Given the description of an element on the screen output the (x, y) to click on. 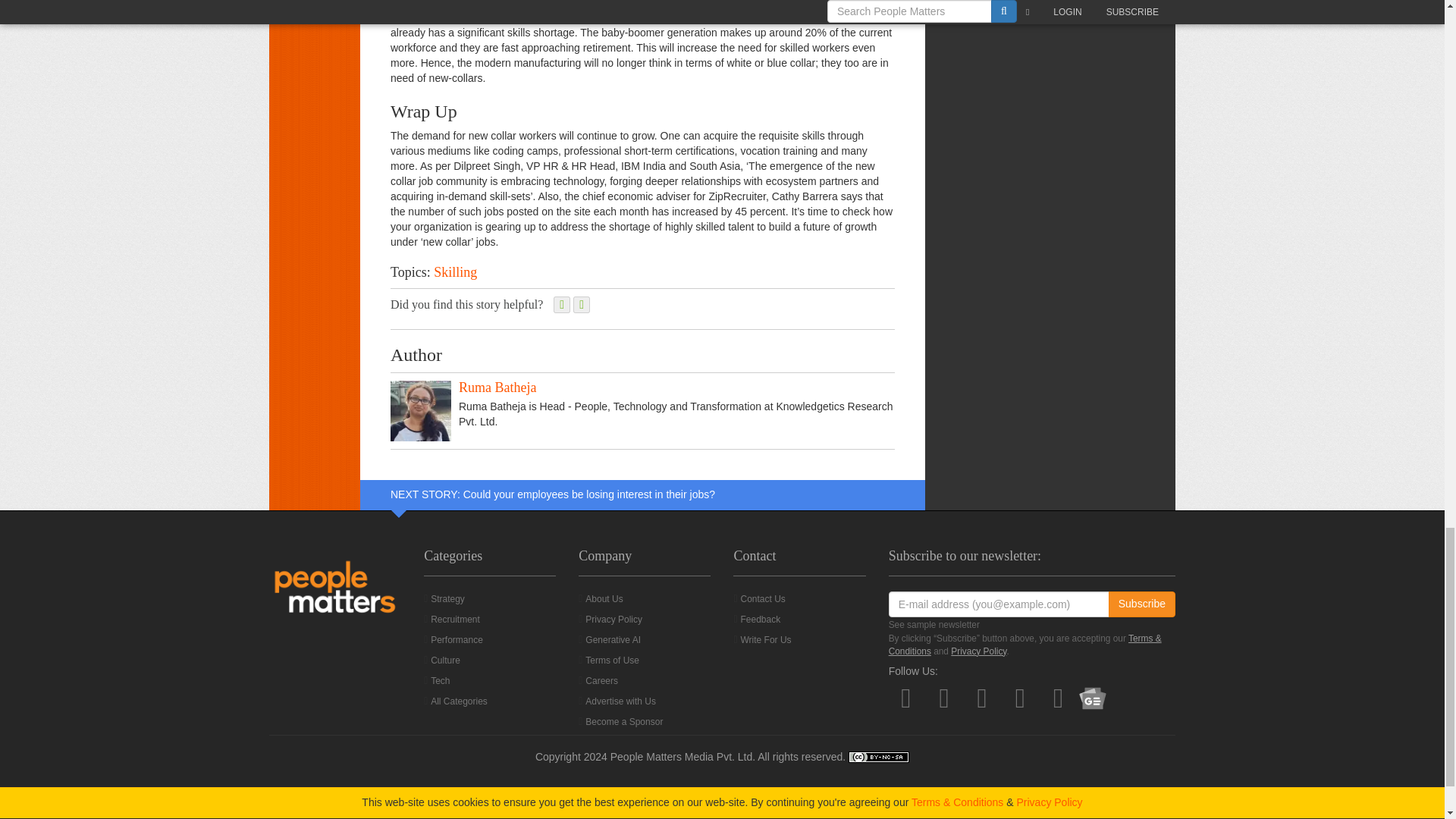
Browse more in: Skilling (455, 272)
Skilling (455, 272)
